Given the description of an element on the screen output the (x, y) to click on. 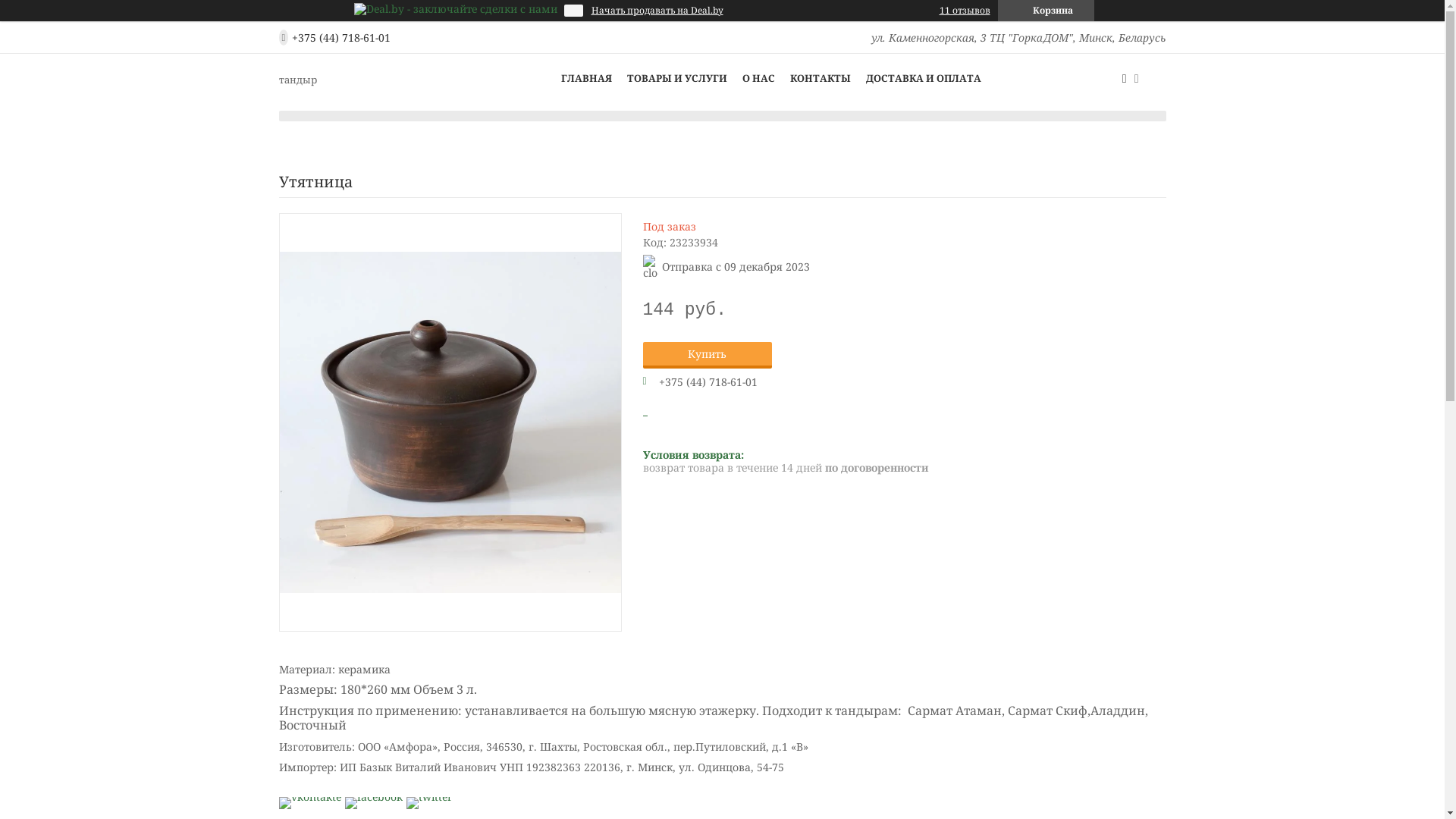
facebook Element type: hover (372, 796)
twitter Element type: hover (429, 796)
